Given the description of an element on the screen output the (x, y) to click on. 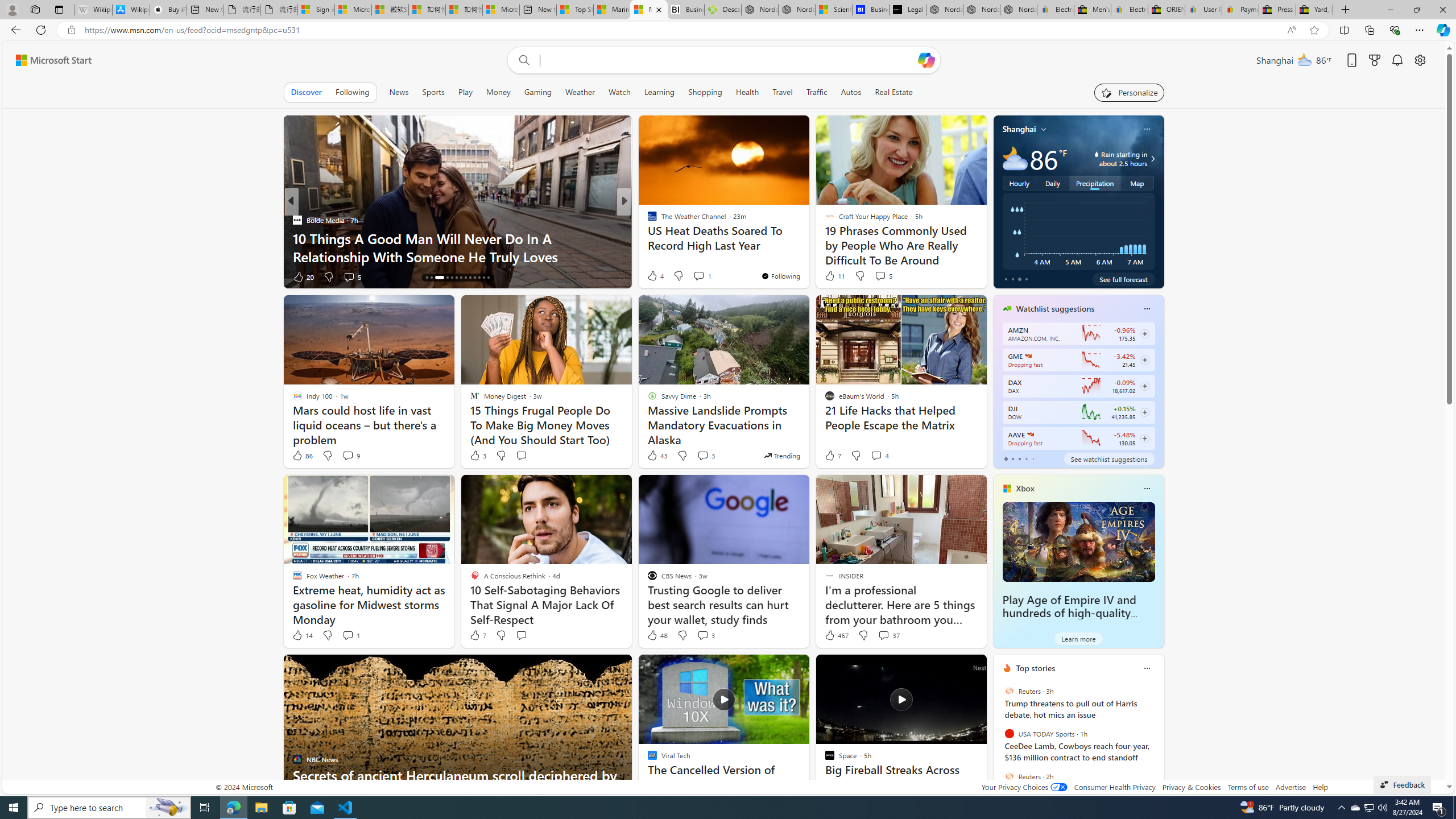
A Conscious Rethink (647, 219)
AutomationID: tab-18 (451, 277)
Learn more (1078, 638)
Microsoft Services Agreement (353, 9)
115 Like (654, 276)
Groovy Era (647, 238)
Rain starting in about 2.5 hours (1150, 158)
ChaChingQueen (647, 219)
The Cool Down (647, 219)
water-drop-icon Rain starting in about 2.5 hours (1110, 158)
Travel (782, 92)
GOBankingRates (296, 219)
BBC (647, 219)
Shopping (705, 92)
